Given the description of an element on the screen output the (x, y) to click on. 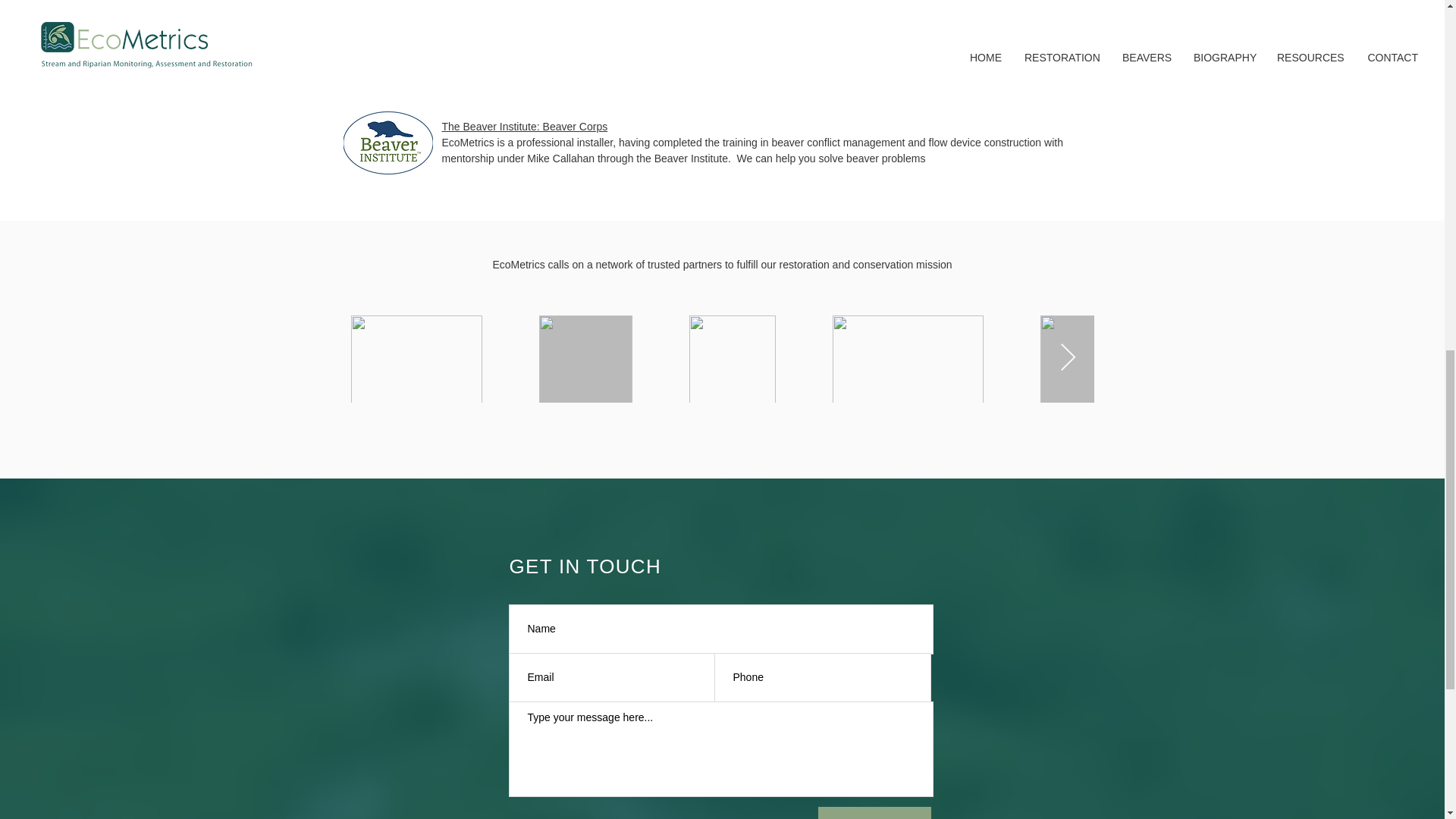
Submit (873, 812)
Low-tech Process-based Restoration of Riverscapes (564, 19)
The Beaver Institute: Beaver Corps (524, 126)
